Given the description of an element on the screen output the (x, y) to click on. 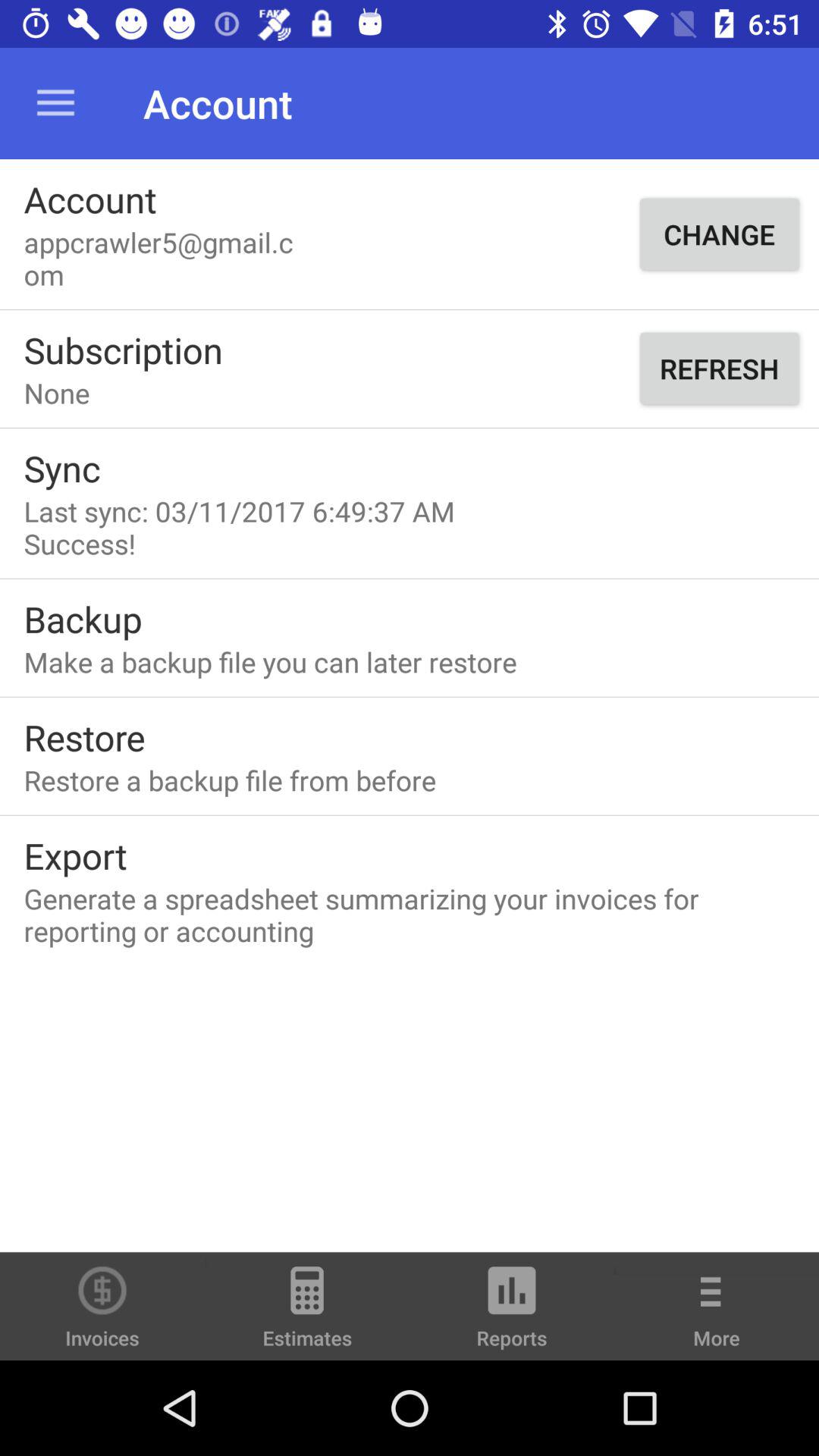
press the item to the left of the more icon (511, 1313)
